Given the description of an element on the screen output the (x, y) to click on. 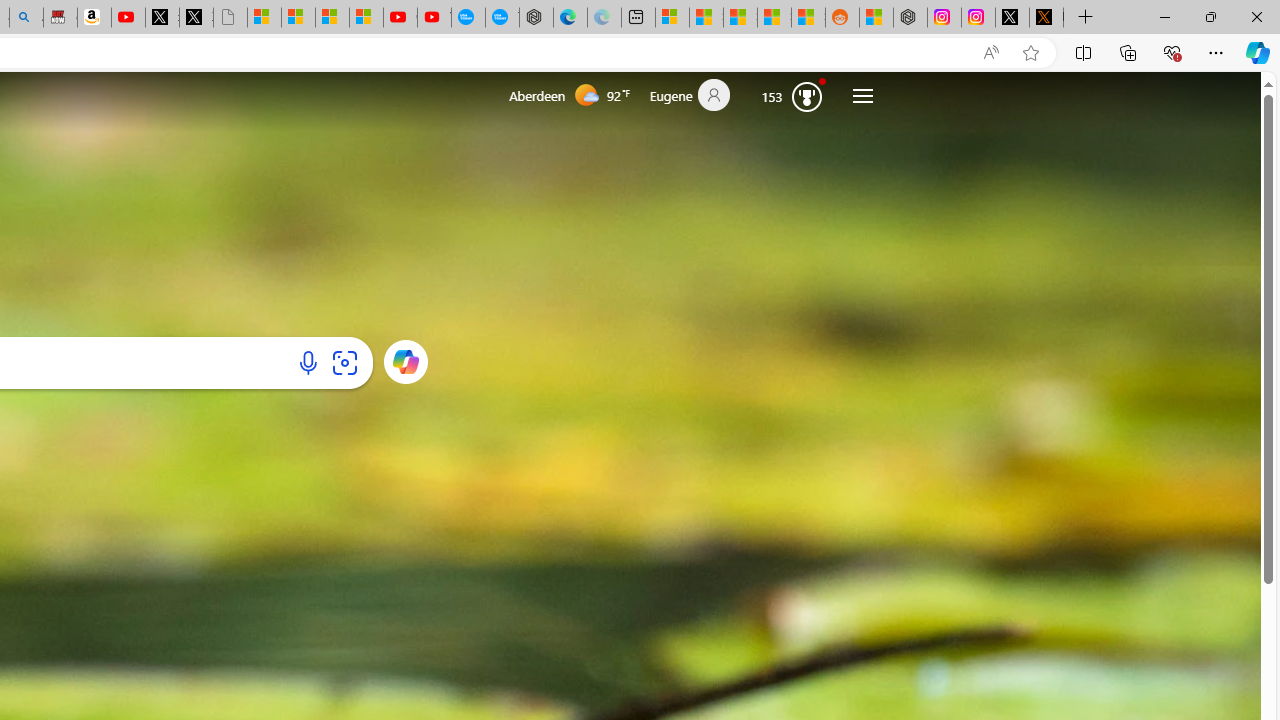
Settings and quick links (862, 95)
Shanghai, China weather forecast | Microsoft Weather (706, 17)
Day 1: Arriving in Yemen (surreal to be here) - YouTube (127, 17)
YouTube Kids - An App Created for Kids to Explore Content (434, 17)
Learn more (404, 361)
Nordace - Nordace has arrived Hong Kong (535, 17)
Search using voice (308, 362)
